Given the description of an element on the screen output the (x, y) to click on. 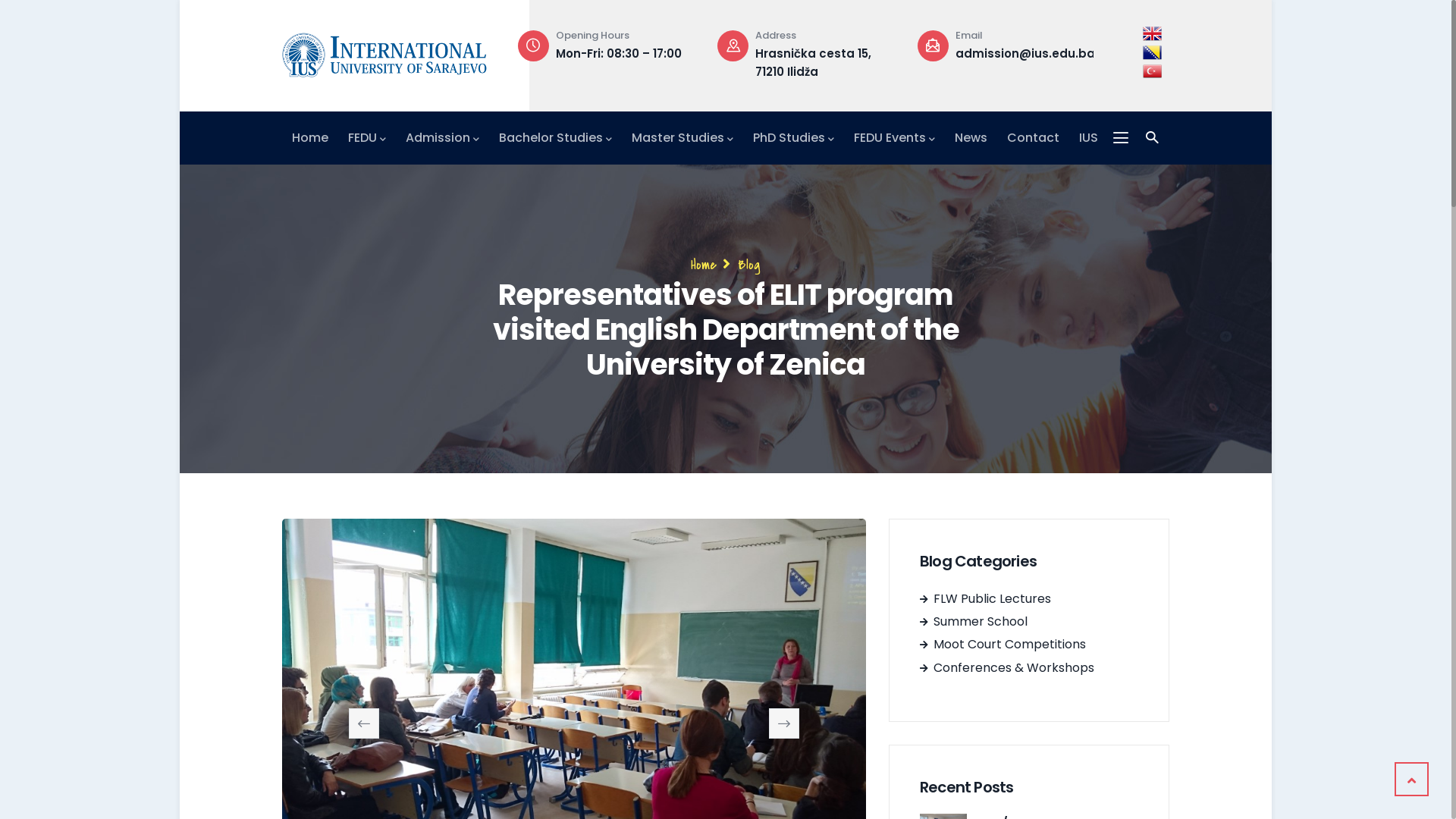
Home Element type: hover (384, 51)
Bachelor Studies Element type: text (554, 137)
Admission Element type: text (442, 137)
FEDU Element type: text (366, 137)
Home Element type: text (309, 137)
Engleski Element type: hover (1151, 33)
Contact Element type: text (1033, 137)
FEDU Events Element type: text (894, 137)
  FLW Public Lectures Element type: text (985, 598)
  Moot Court Competitions Element type: text (1002, 643)
Skip to main content Element type: text (179, 0)
Turkish Element type: hover (1151, 71)
News Element type: text (970, 137)
  Conferences & Workshops Element type: text (1006, 667)
Bosnian Element type: hover (1151, 52)
Master Studies Element type: text (682, 137)
Home Element type: text (703, 264)
PhD Studies Element type: text (793, 137)
  Summer School Element type: text (973, 621)
IUS Element type: text (1088, 137)
